Given the description of an element on the screen output the (x, y) to click on. 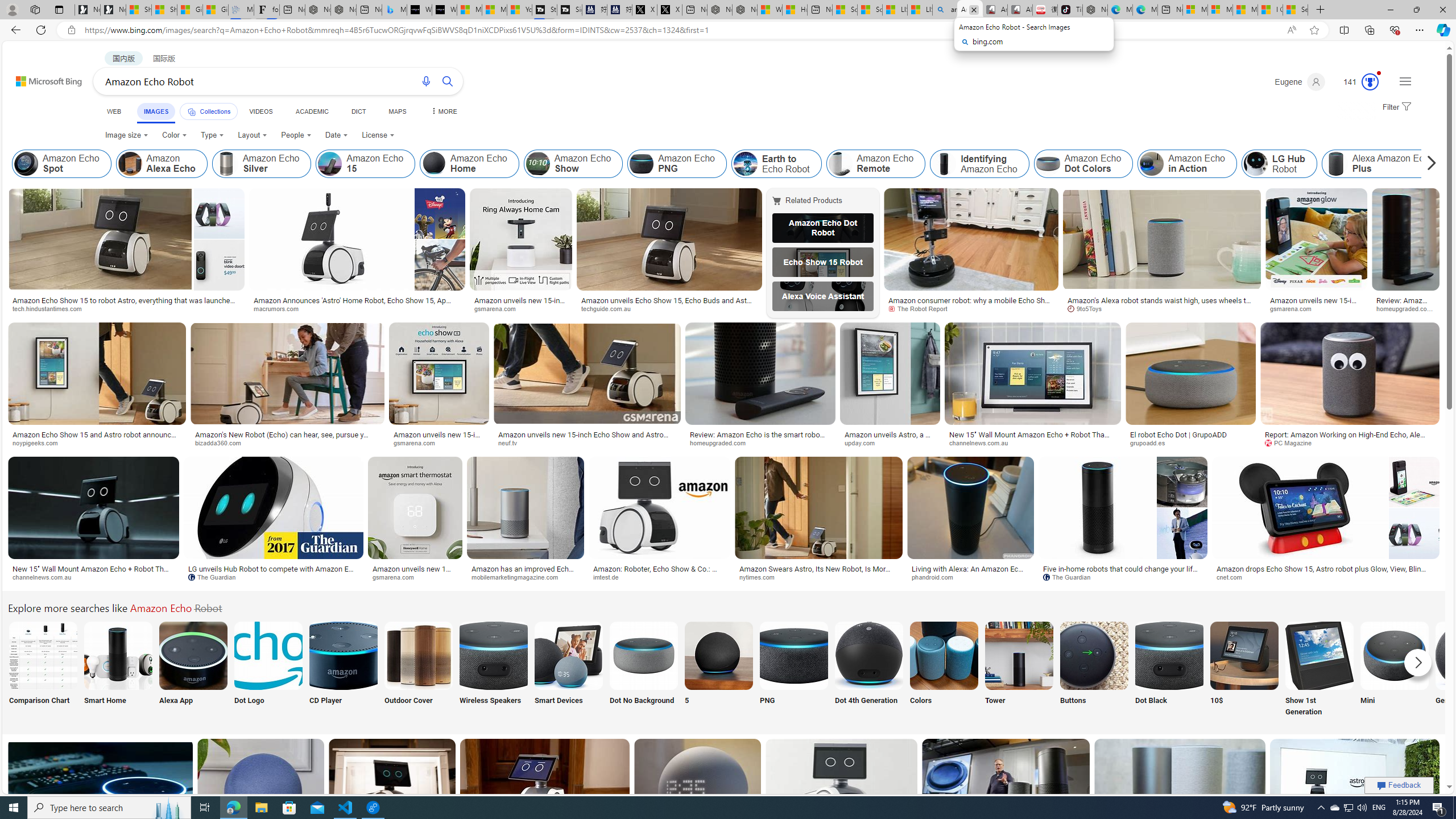
Shanghai, China weather forecast | Microsoft Weather (164, 9)
License (377, 135)
9to5Toys (1161, 308)
The Guardian (1070, 576)
amazon - Search (944, 9)
Amazon Echo Tower (1018, 654)
Nordace - Summer Adventures 2024 (744, 9)
